Given the description of an element on the screen output the (x, y) to click on. 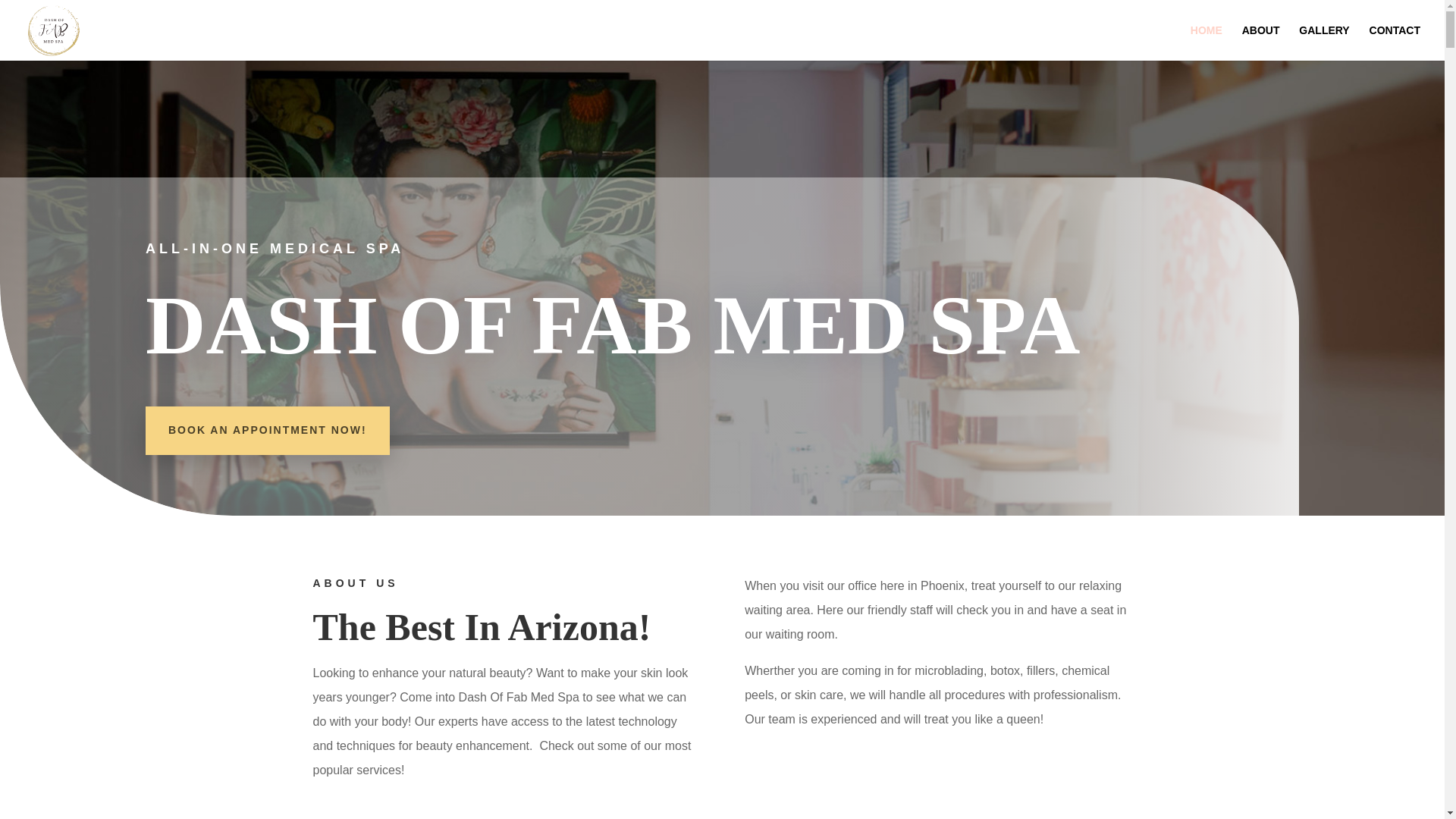
HOME (1207, 42)
BOOK AN APPOINTMENT NOW! (267, 430)
CONTACT (1395, 42)
ABOUT (1260, 42)
GALLERY (1323, 42)
